Given the description of an element on the screen output the (x, y) to click on. 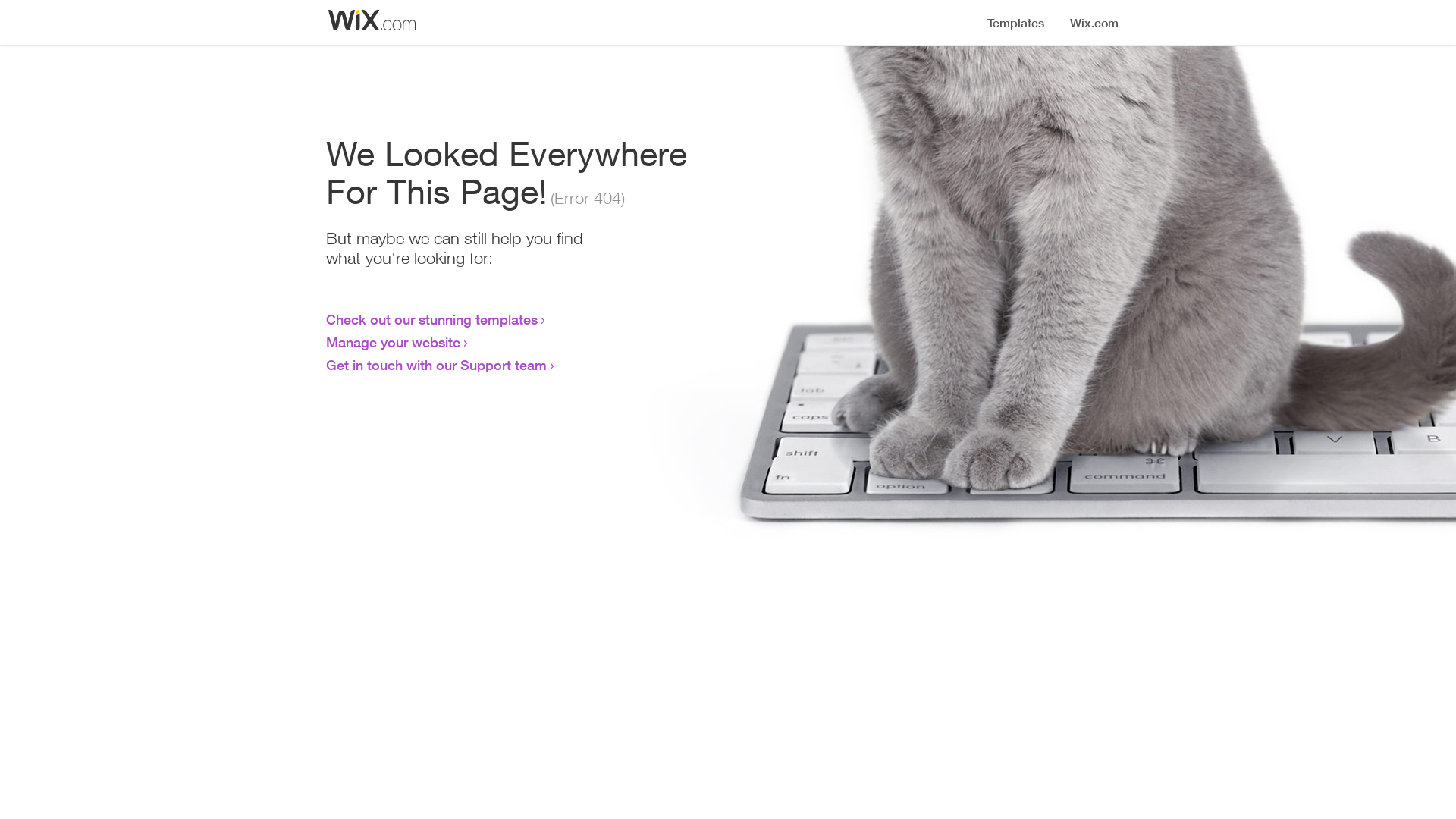
Manage your website Element type: text (393, 341)
Check out our stunning templates Element type: text (431, 318)
Get in touch with our Support team Element type: text (436, 364)
